Given the description of an element on the screen output the (x, y) to click on. 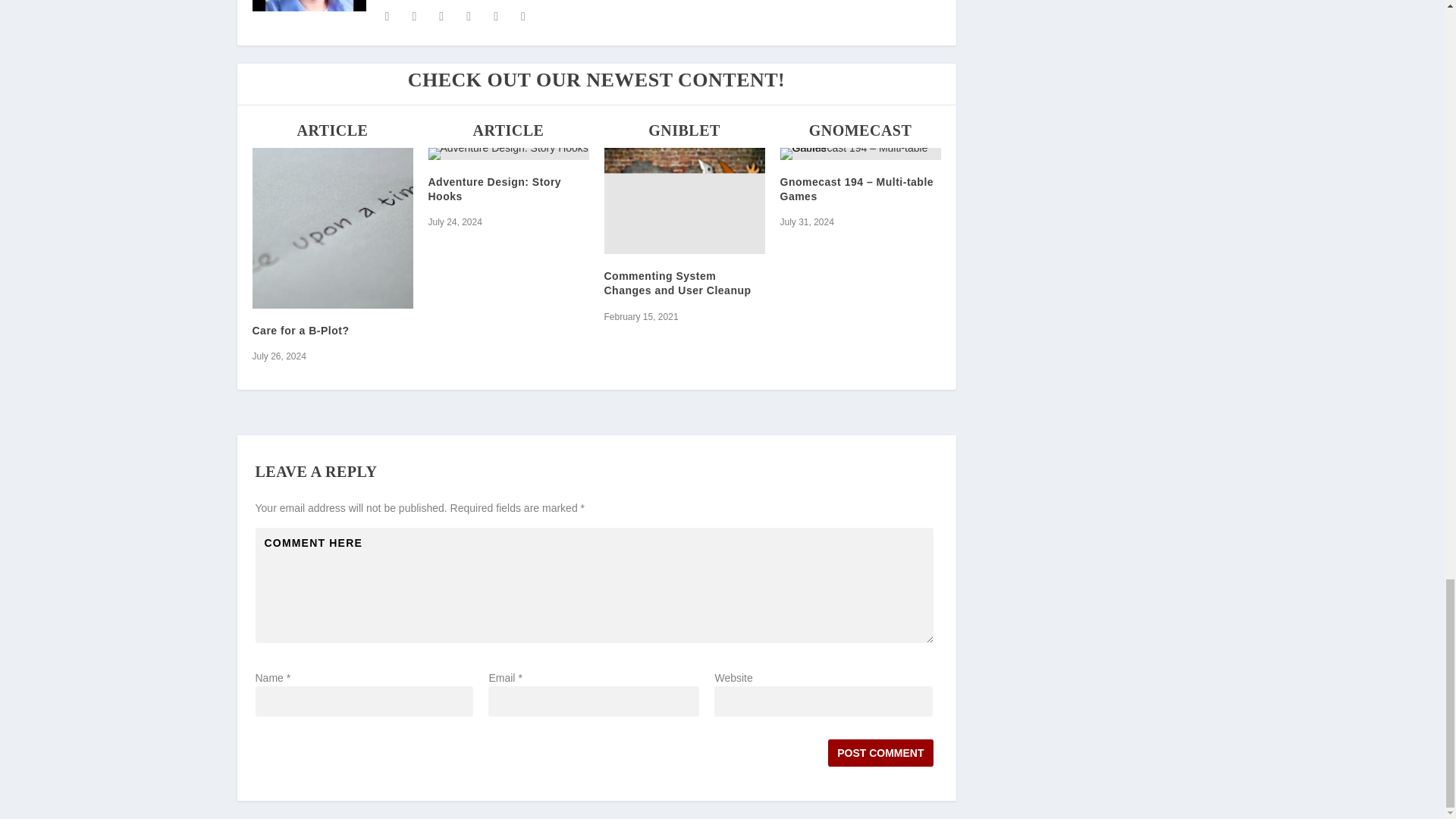
Post Comment (880, 752)
Adventure Design: Story Hooks (508, 153)
Commenting System Changes and User Cleanup (684, 200)
Care for a B-Plot? (331, 228)
